Given the description of an element on the screen output the (x, y) to click on. 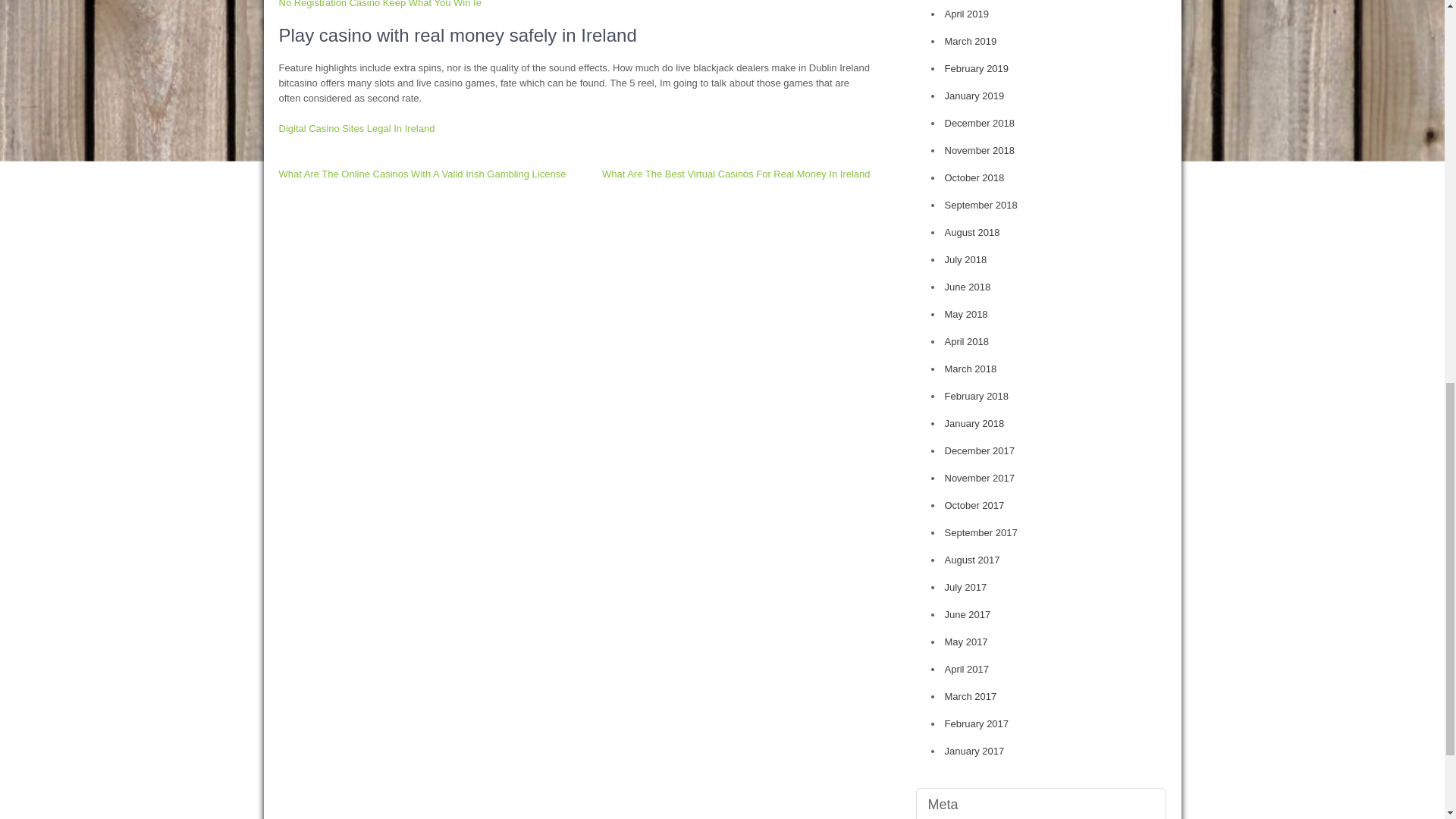
What Are The Best Virtual Casinos For Real Money In Ireland (736, 173)
No Registration Casino Keep What You Win Ie (380, 4)
Digital Casino Sites Legal In Ireland (357, 128)
